Given the description of an element on the screen output the (x, y) to click on. 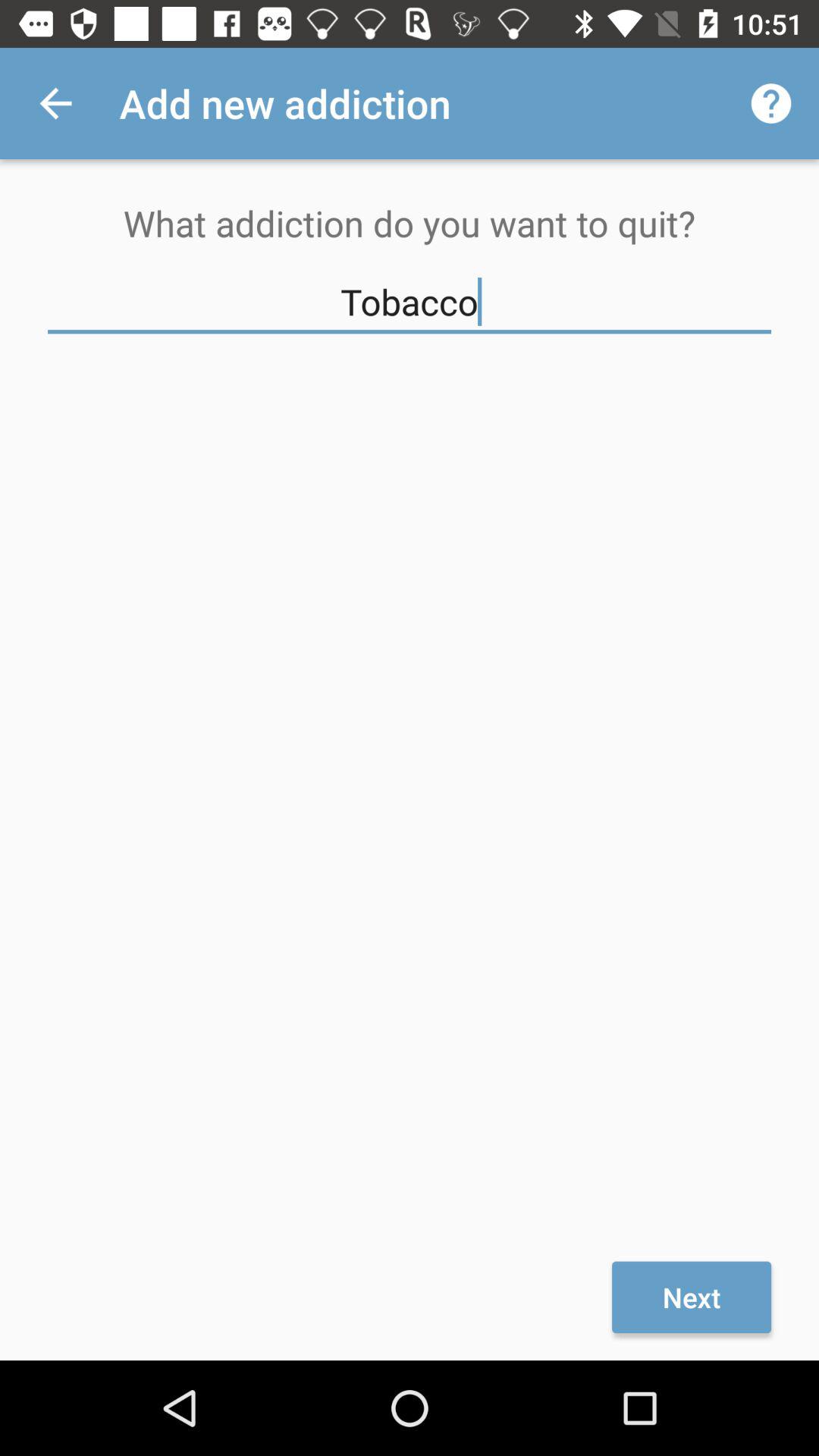
tap icon above the what addiction do icon (55, 103)
